Given the description of an element on the screen output the (x, y) to click on. 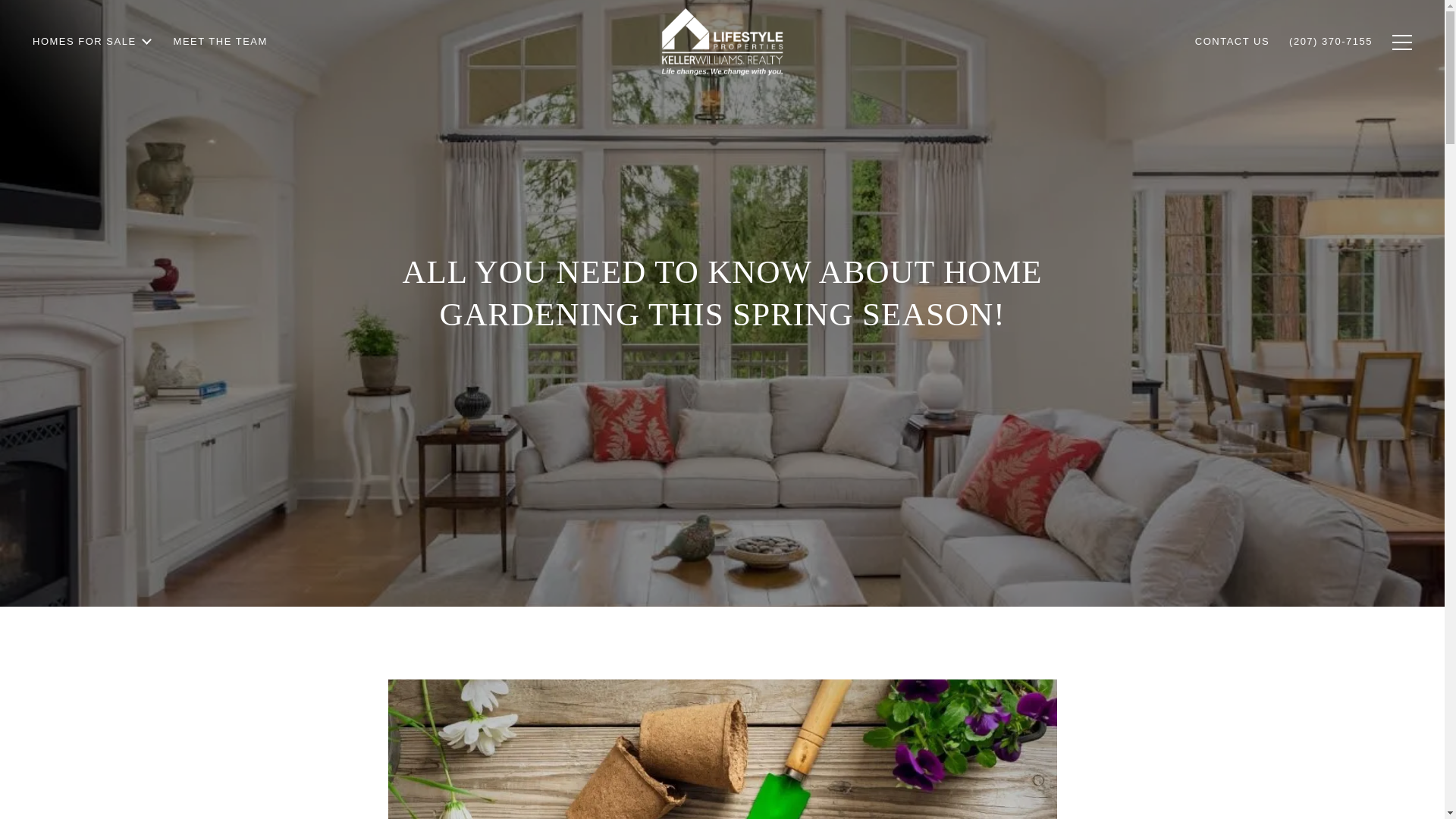
CONTACT US (1232, 56)
MEET THE TEAM (220, 60)
HOMES FOR SALE (93, 81)
